Given the description of an element on the screen output the (x, y) to click on. 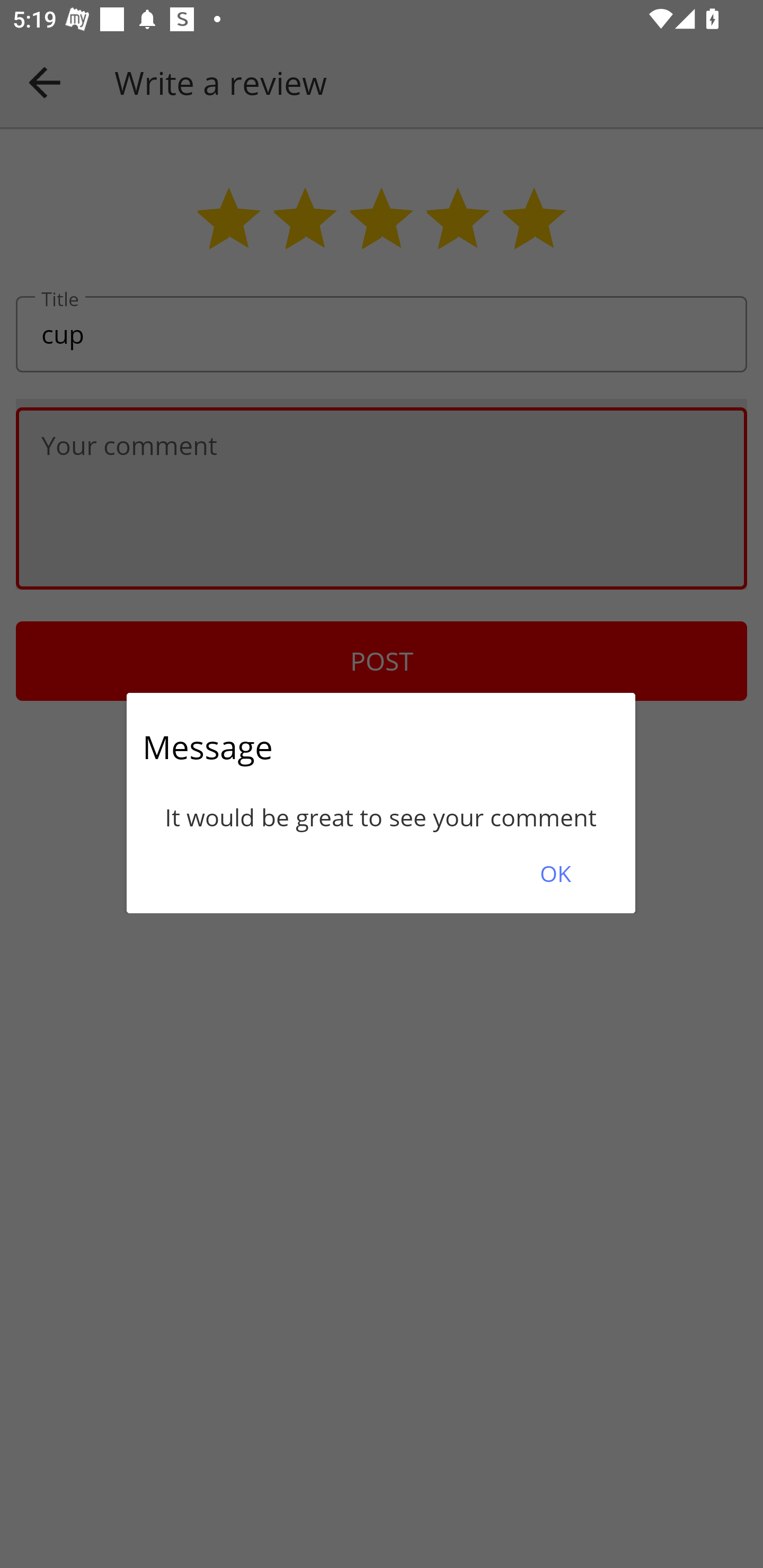
OK (555, 873)
